Given the description of an element on the screen output the (x, y) to click on. 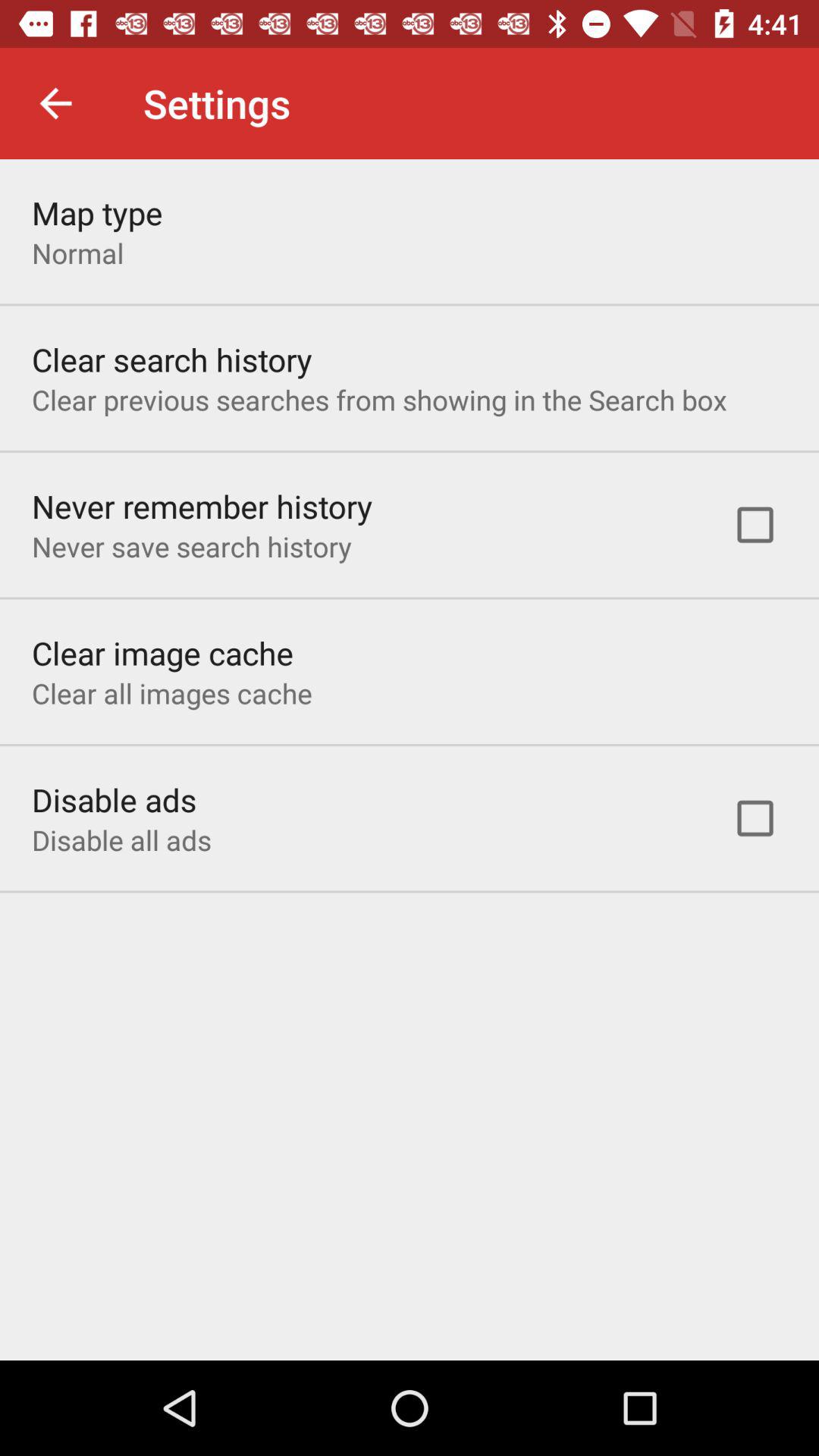
select normal item (77, 252)
